Given the description of an element on the screen output the (x, y) to click on. 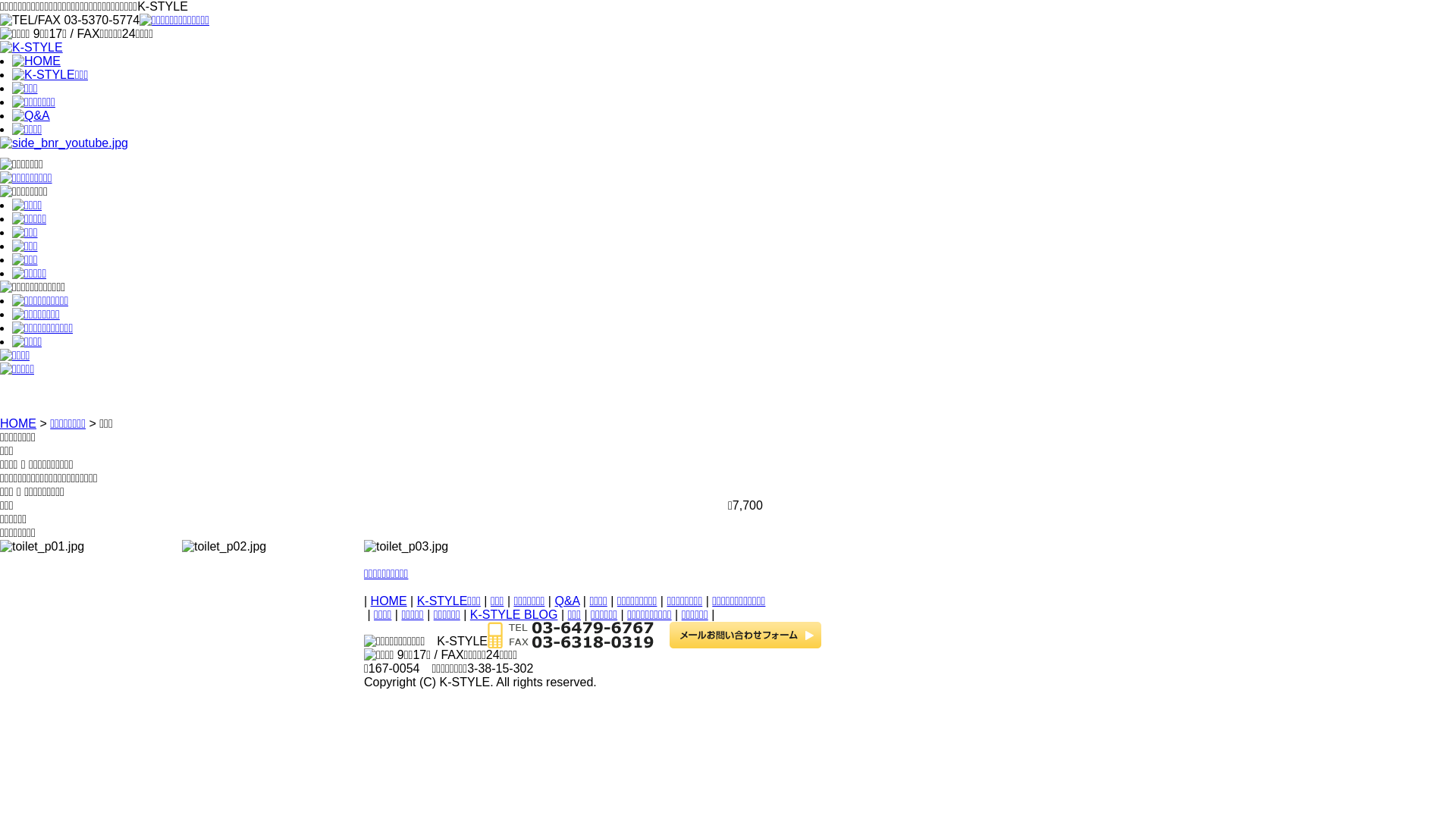
HOME Element type: text (18, 423)
HOME Element type: text (388, 600)
Q&A Element type: text (566, 600)
K-STYLE BLOG Element type: text (514, 614)
